Given the description of an element on the screen output the (x, y) to click on. 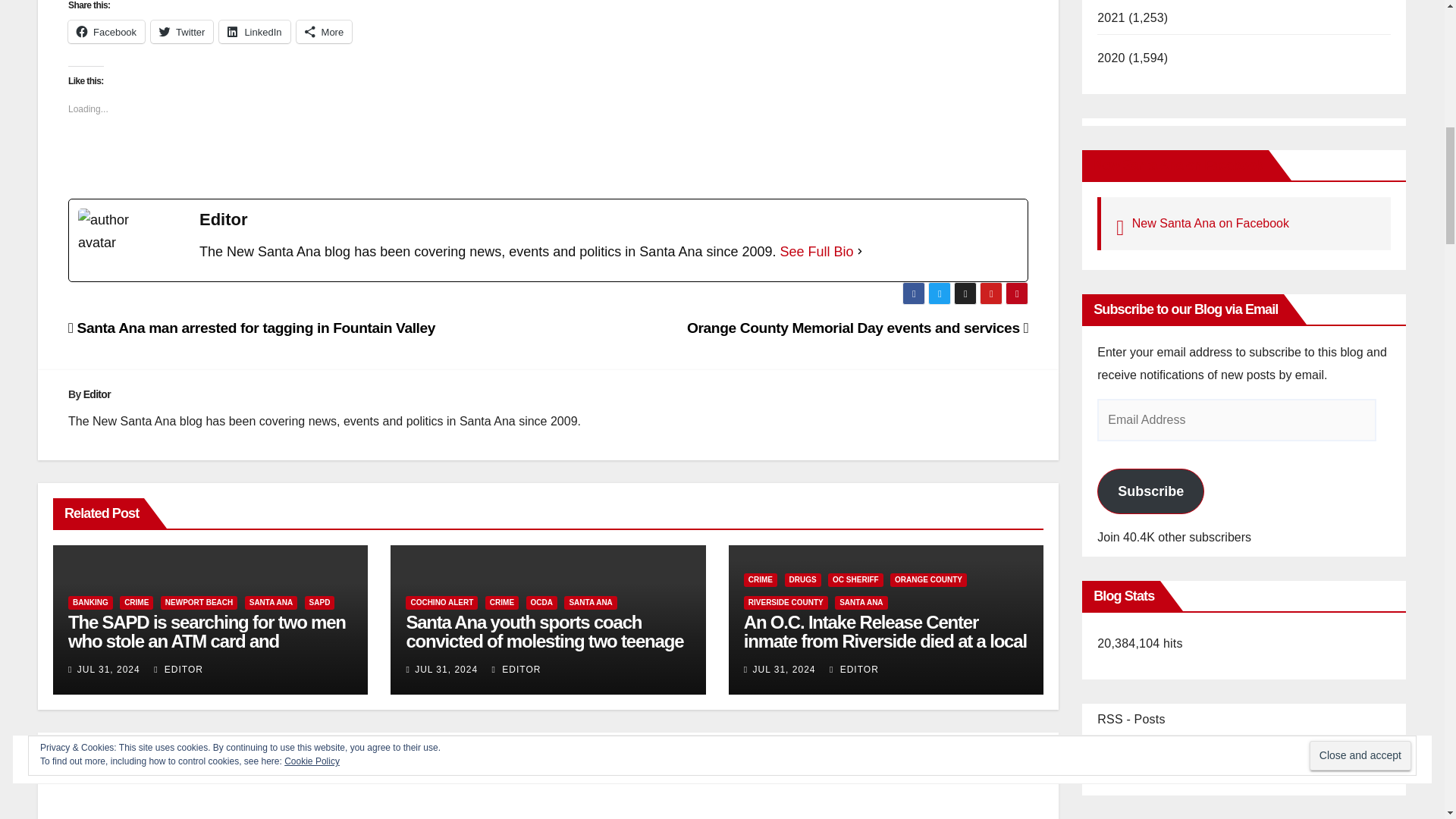
Twitter (181, 31)
Facebook (106, 31)
See Full Bio (816, 251)
LinkedIn (254, 31)
More (324, 31)
Click to share on Twitter (181, 31)
Click to share on LinkedIn (254, 31)
Click to share on Facebook (106, 31)
